Given the description of an element on the screen output the (x, y) to click on. 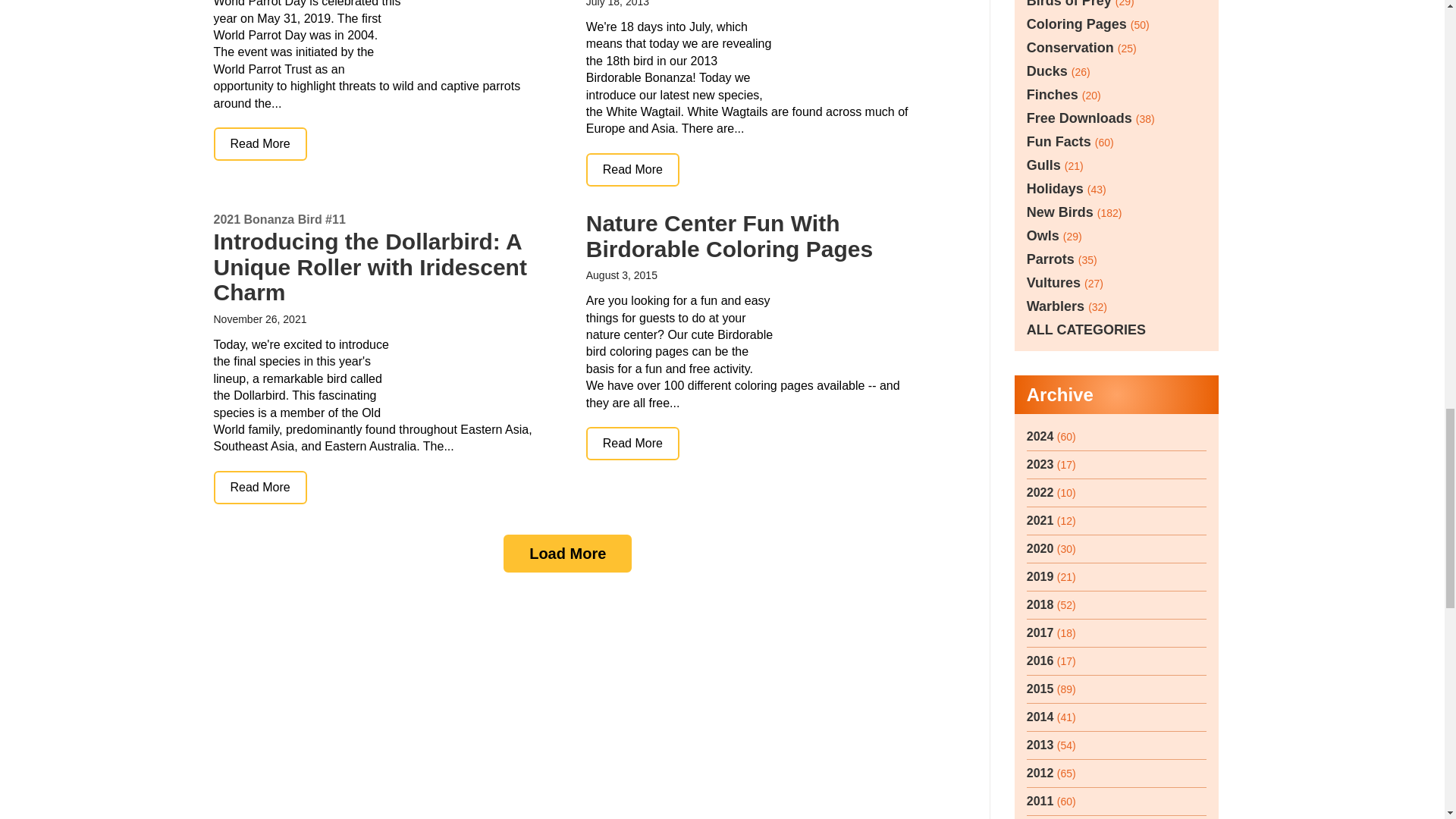
World Parrot Day (260, 143)
Nature Center Fun With Birdorable Coloring Pages (632, 443)
